Given the description of an element on the screen output the (x, y) to click on. 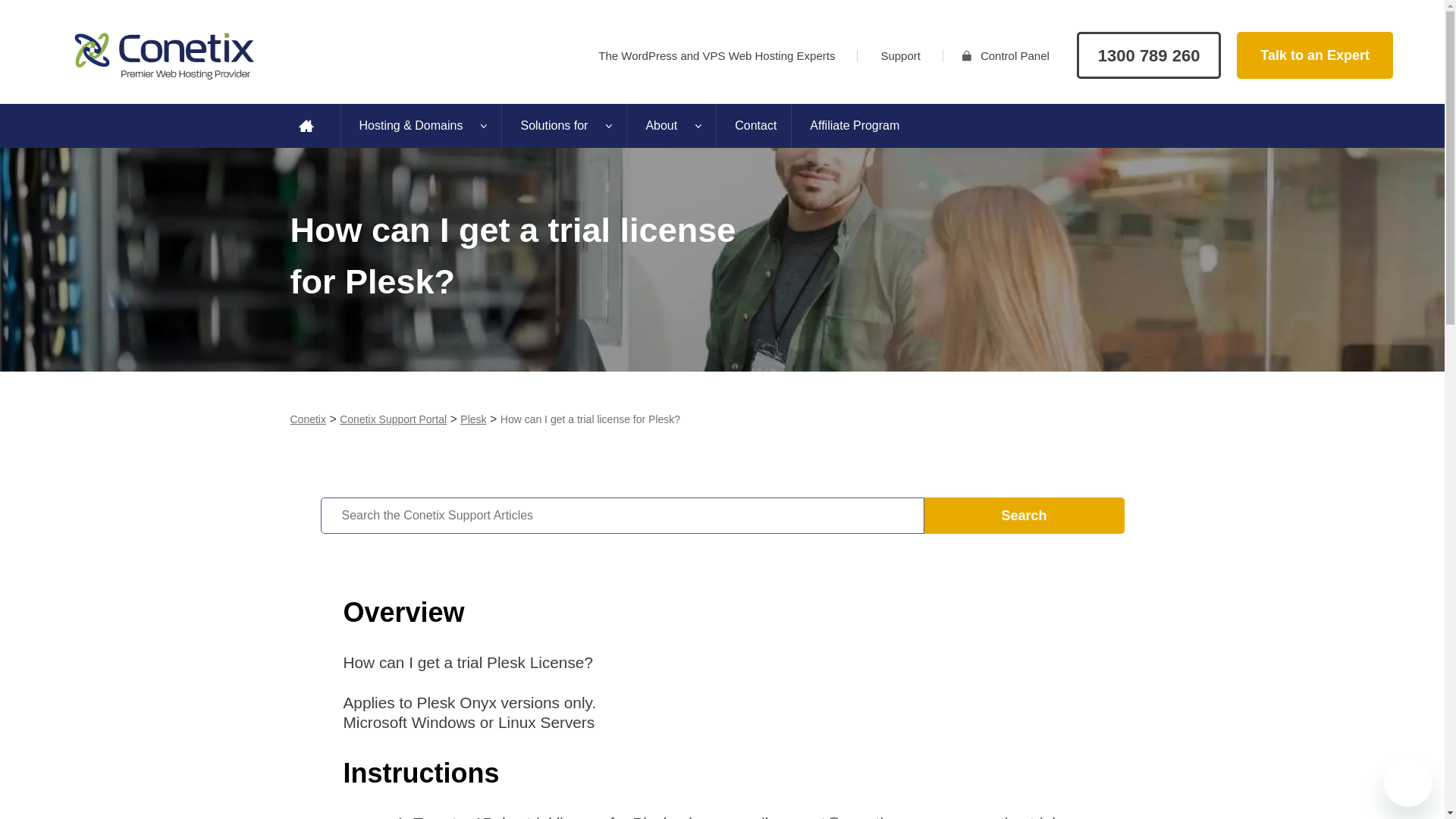
Control Panel (1009, 56)
Go to Conetix. (306, 419)
1300 789 260 (1149, 54)
Go to the Plesk Article Category archives. (473, 419)
The WordPress and VPS Web Hosting Experts (716, 56)
Talk to an Expert (1314, 55)
Support (900, 56)
Go to Conetix Support Portal. (392, 419)
